Given the description of an element on the screen output the (x, y) to click on. 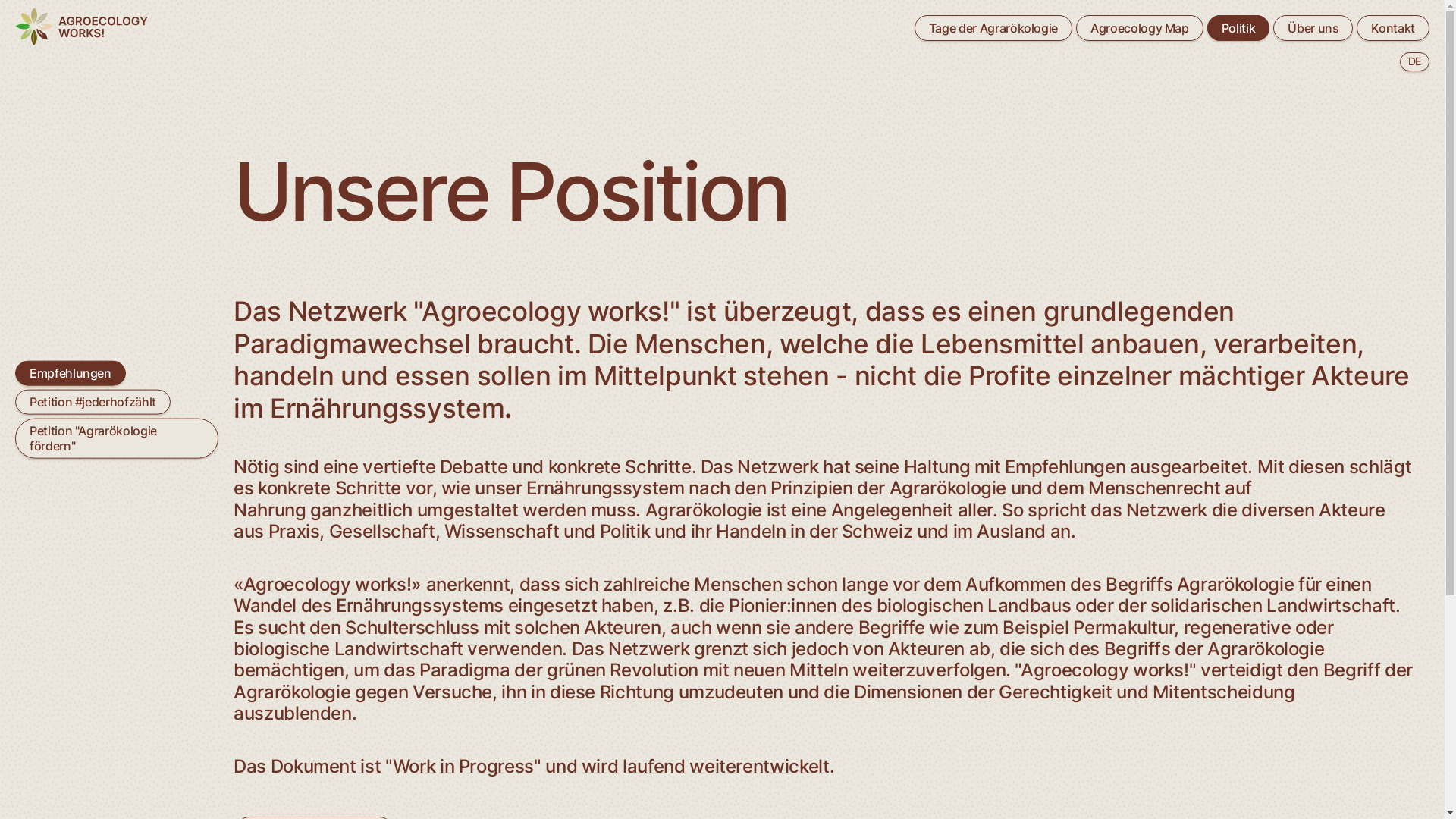
Agroecology Map Element type: text (1139, 27)
Twitter Element type: text (654, 724)
Kontakt Element type: text (1392, 27)
Youtube Element type: text (657, 699)
Facebook Element type: text (660, 712)
Impressum Element type: text (1068, 699)
Empfehlungen Element type: text (70, 372)
Instagram Element type: text (661, 686)
Politik Element type: text (1238, 27)
DE Element type: text (1414, 61)
